Given the description of an element on the screen output the (x, y) to click on. 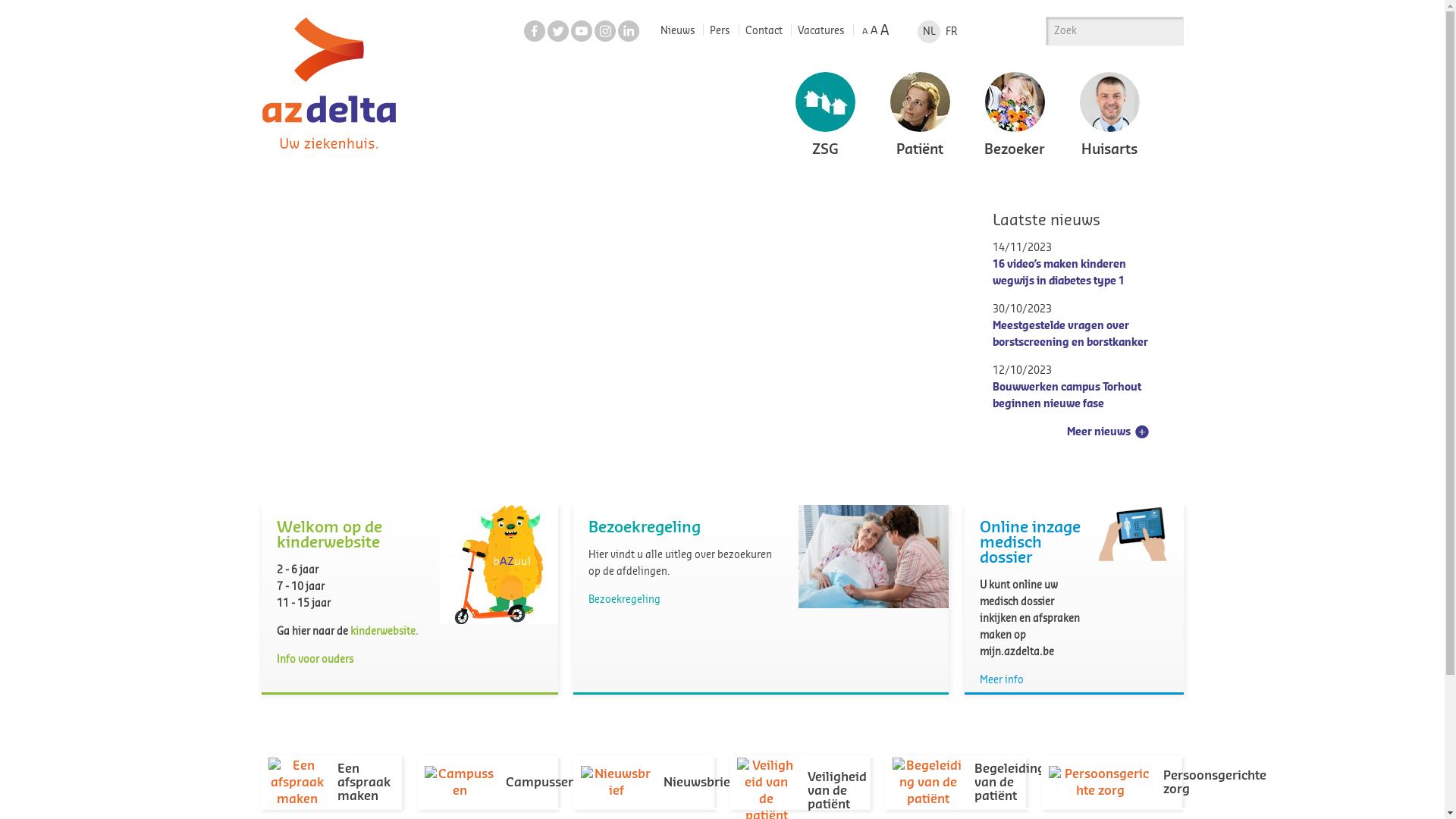
Een afspraak maken Element type: text (330, 782)
Vacatures Element type: text (820, 30)
Contact Element type: text (763, 30)
Home Element type: hover (324, 153)
Persoonsgerichte zorg Element type: text (1157, 782)
FR Element type: text (951, 31)
kinderwebsite. Element type: text (384, 631)
ZSG Element type: text (825, 114)
Info voor ouders Element type: text (314, 659)
Nieuwsbrief Element type: text (657, 782)
Skip to main content Element type: text (48, 0)
wat het u zal kosten Element type: text (386, 303)
Geef de zoektermen in waar u wil naar zoeken. Element type: hover (1098, 30)
Laatste nieuws Element type: text (1046, 220)
Meer nieuws Element type: text (1097, 431)
artsen/raadplegingen Element type: text (386, 255)
A Element type: text (873, 30)
Campussen Element type: text (500, 782)
Nieuws Element type: text (677, 30)
A Element type: text (884, 30)
A Element type: text (864, 31)
Bezoekregeling Element type: text (624, 599)
NL Element type: text (928, 31)
Pers Element type: text (719, 30)
Bouwwerken campus Torhout beginnen nieuwe fase Element type: text (1066, 395)
Meer info Element type: text (1001, 679)
Meestgestelde vragen over borstscreening en borstkanker Element type: text (1070, 333)
Huisarts Element type: text (1108, 114)
meer Element type: text (386, 400)
animatiebeeld tablet Element type: hover (1139, 533)
bAZuul op de step Element type: hover (498, 564)
Bezoeker Element type: text (1014, 114)
Zoek Element type: text (1166, 30)
Next Element type: text (1161, 116)
